Given the description of an element on the screen output the (x, y) to click on. 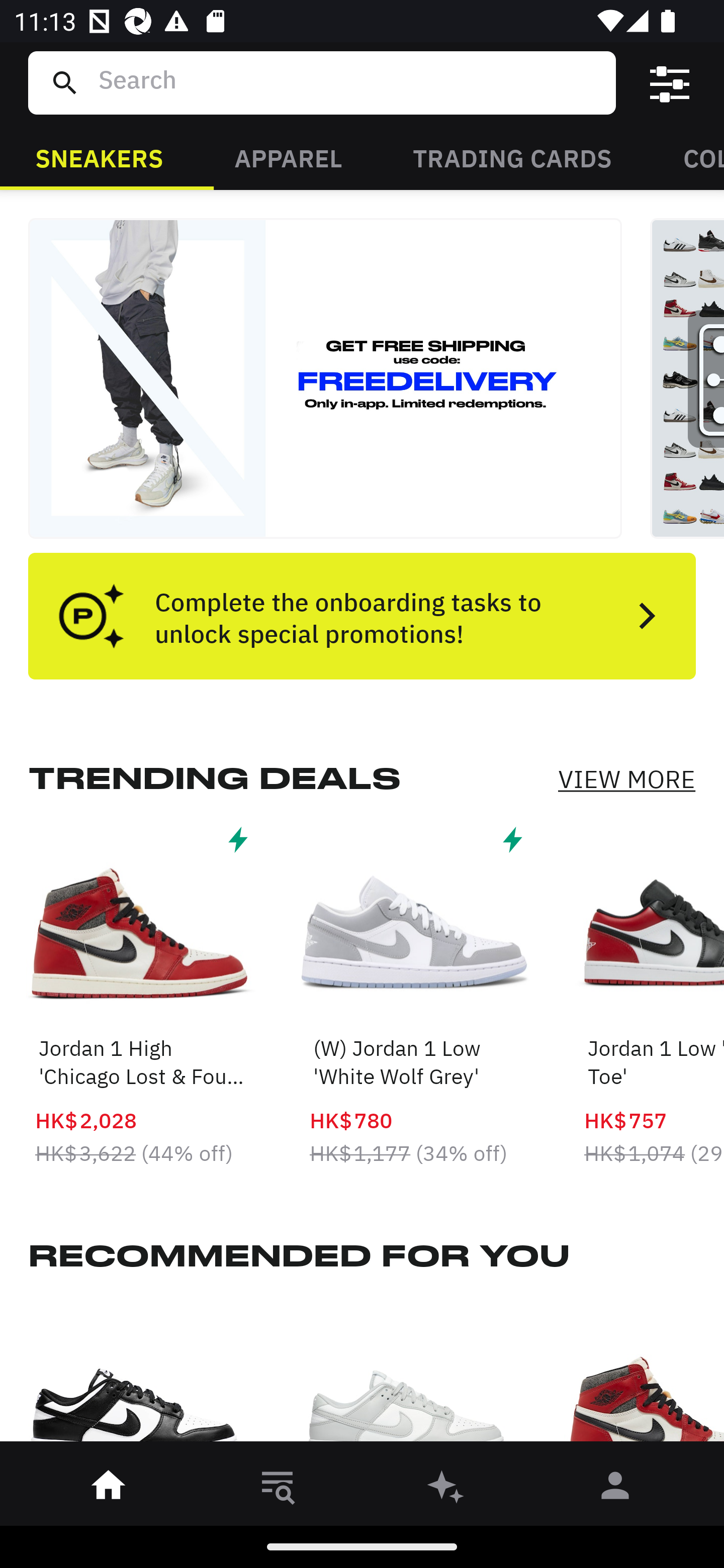
Search (349, 82)
 (669, 82)
SNEAKERS (99, 156)
APPAREL (287, 156)
TRADING CARDS (512, 156)
VIEW MORE (626, 779)
󰋜 (108, 1488)
󱎸 (277, 1488)
󰫢 (446, 1488)
󰀄 (615, 1488)
